Given the description of an element on the screen output the (x, y) to click on. 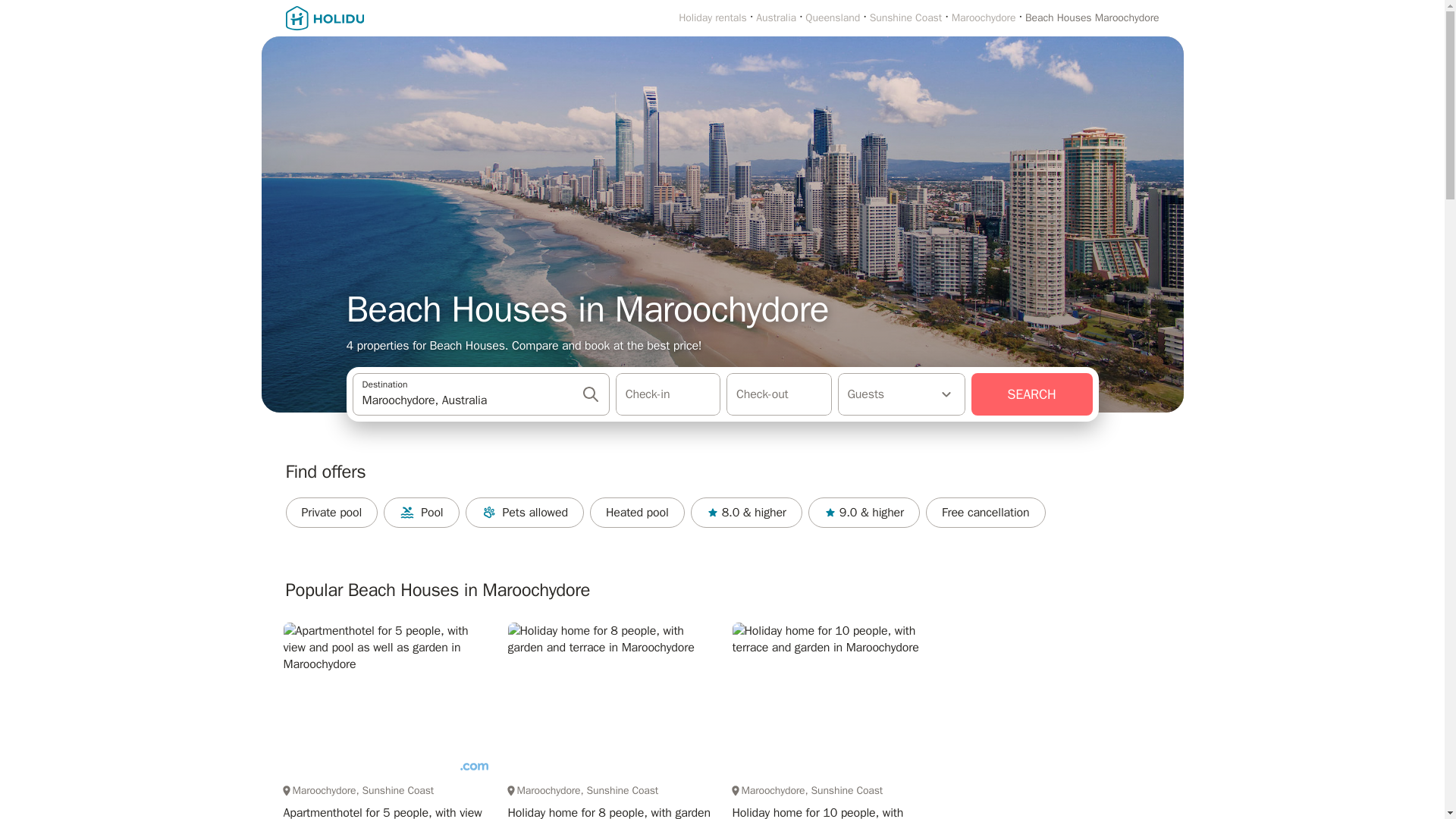
SEARCH (1031, 394)
Maroochydore, Sunshine Coast (610, 790)
Holiday rentals (712, 17)
Guests (900, 394)
Pets allowed (524, 512)
Pool (421, 512)
Heated pool (636, 512)
Sunshine Coast (905, 17)
Maroochydore, Australia (471, 400)
Check-out (778, 394)
Maroochydore (984, 17)
Maroochydore, Sunshine Coast (385, 790)
Maroochydore, Sunshine Coast (834, 790)
Free cancellation (985, 512)
Private pool (331, 512)
